Given the description of an element on the screen output the (x, y) to click on. 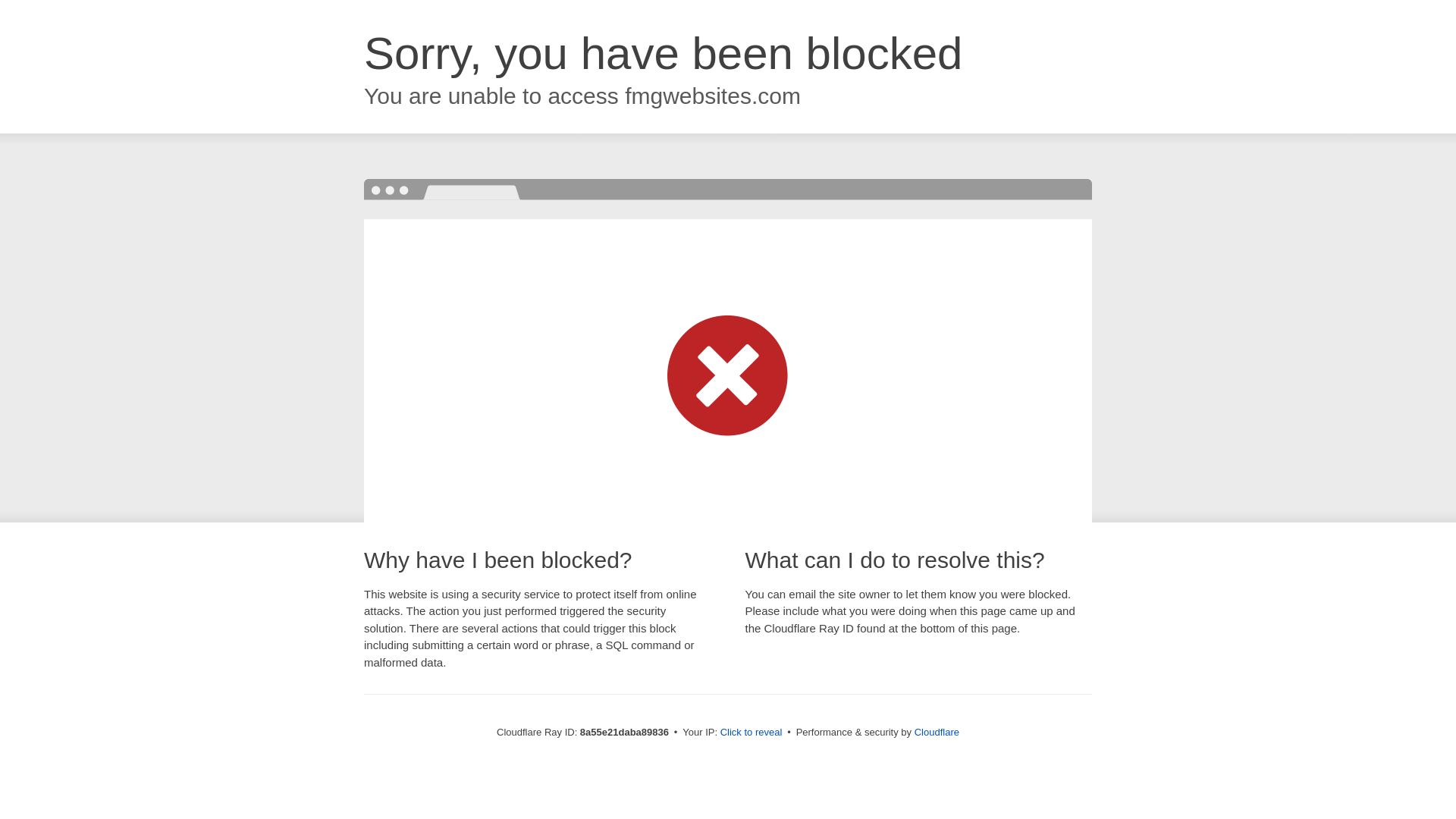
Click to reveal (751, 732)
Cloudflare (936, 731)
